Given the description of an element on the screen output the (x, y) to click on. 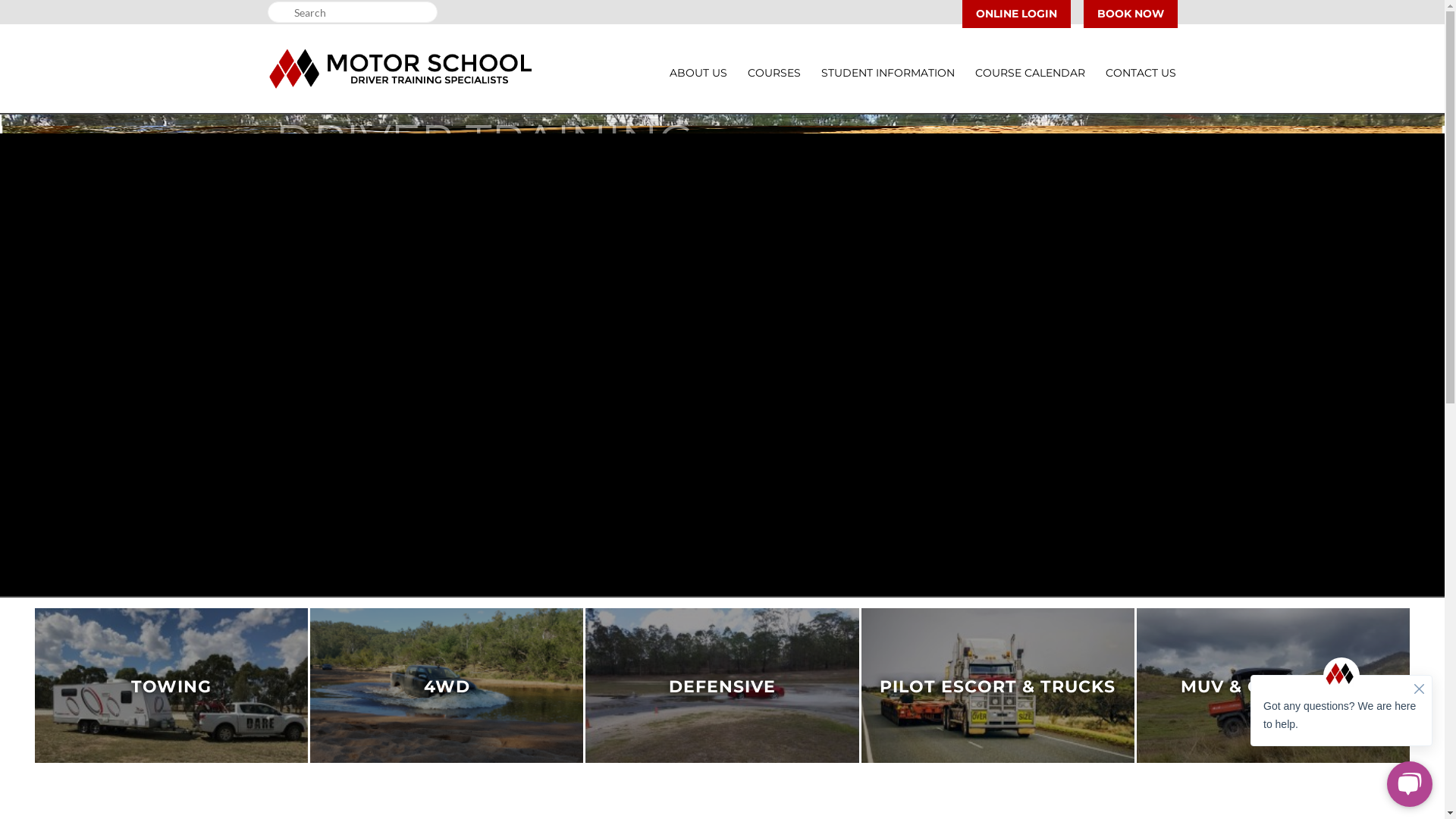
CONTACT US Element type: text (1140, 72)
4WD Element type: text (446, 686)
PILOT ESCORT & TRUCKS Element type: text (997, 686)
TOWING Element type: text (170, 686)
COURSES Element type: text (773, 72)
COURSE CALENDAR Element type: text (1030, 72)
DEFENSIVE Element type: text (721, 686)
ABOUT US Element type: text (697, 72)
BOOK NOW Element type: text (1129, 14)
STUDENT INFORMATION Element type: text (887, 72)
MUV & QUAD BIKES Element type: text (1272, 686)
ONLINE LOGIN Element type: text (1015, 14)
Motor School Element type: hover (399, 68)
